Given the description of an element on the screen output the (x, y) to click on. 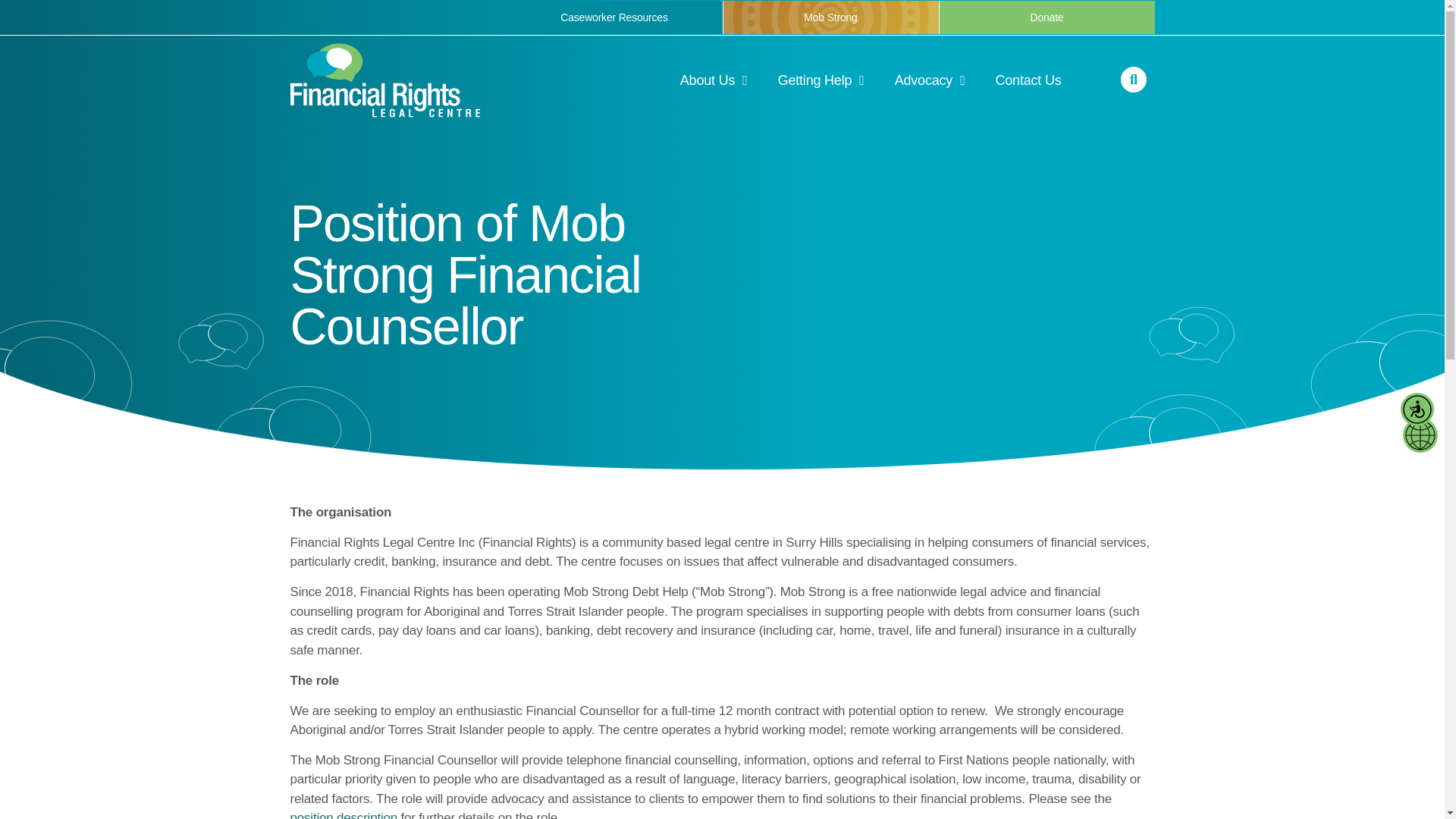
Getting Help (820, 79)
Contact Us (1027, 79)
Mob Strong (829, 17)
About Us (713, 79)
Advocacy (930, 79)
Accessibility Menu (1417, 409)
Donate (1046, 17)
Caseworker Resources (614, 17)
